Given the description of an element on the screen output the (x, y) to click on. 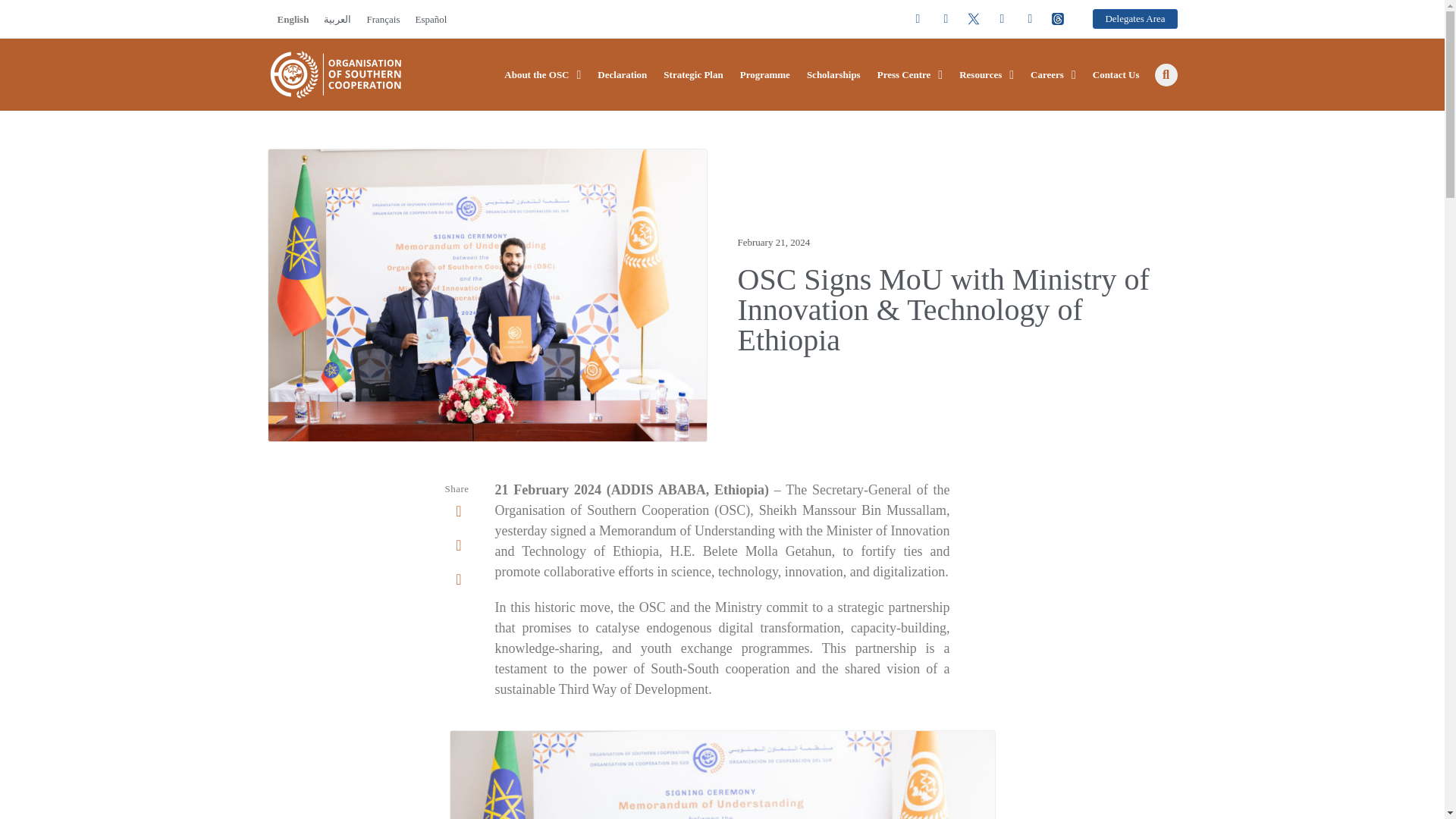
Scholarships (833, 74)
Careers (1052, 74)
Resources (986, 74)
Strategic Plan (692, 74)
Delegates Area (1134, 18)
English (293, 18)
About the OSC (541, 74)
Programme (764, 74)
Declaration (621, 74)
Contact Us (1116, 74)
Press Centre (909, 74)
